Given the description of an element on the screen output the (x, y) to click on. 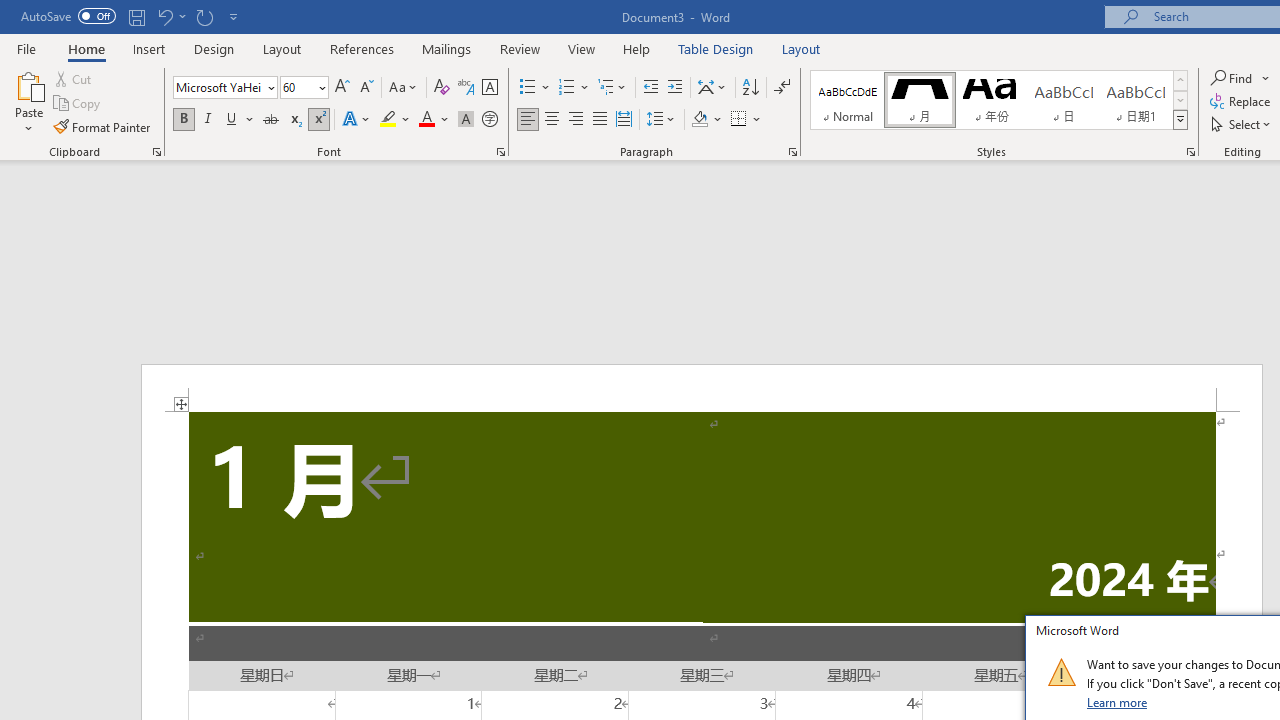
Center (552, 119)
Decrease Indent (650, 87)
Distributed (623, 119)
Increase Indent (675, 87)
Text Effects and Typography (357, 119)
Styles... (1190, 151)
Shrink Font (365, 87)
